Given the description of an element on the screen output the (x, y) to click on. 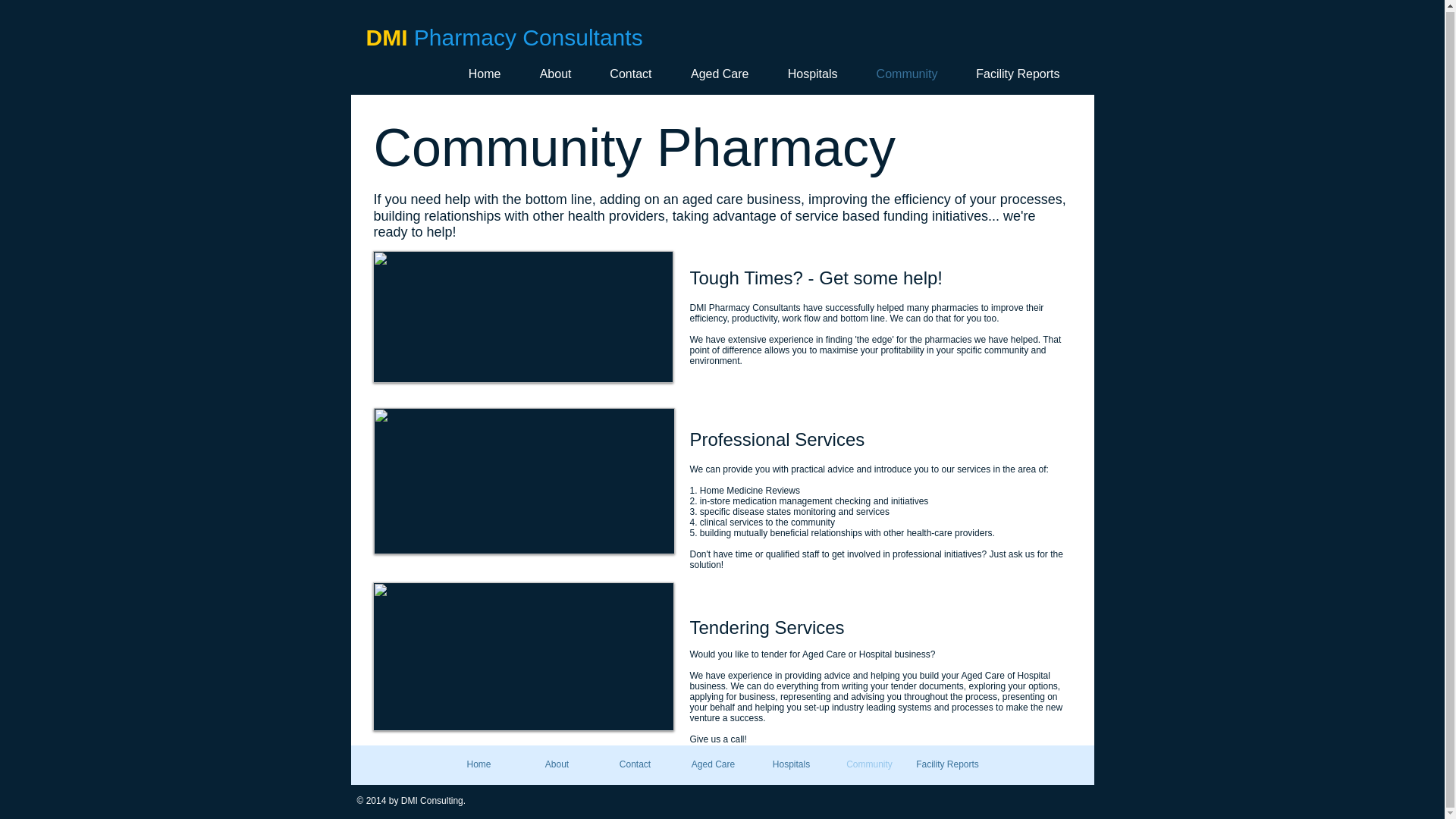
About (556, 763)
Facility Reports (947, 763)
Facility Reports (1013, 73)
Home (479, 73)
Contact (626, 73)
Community (901, 73)
Hospitals (808, 73)
Hospitals (790, 763)
Community (868, 763)
Aged Care (715, 73)
Contact (634, 763)
Aged Care (713, 763)
Home (478, 763)
About (550, 73)
